Given the description of an element on the screen output the (x, y) to click on. 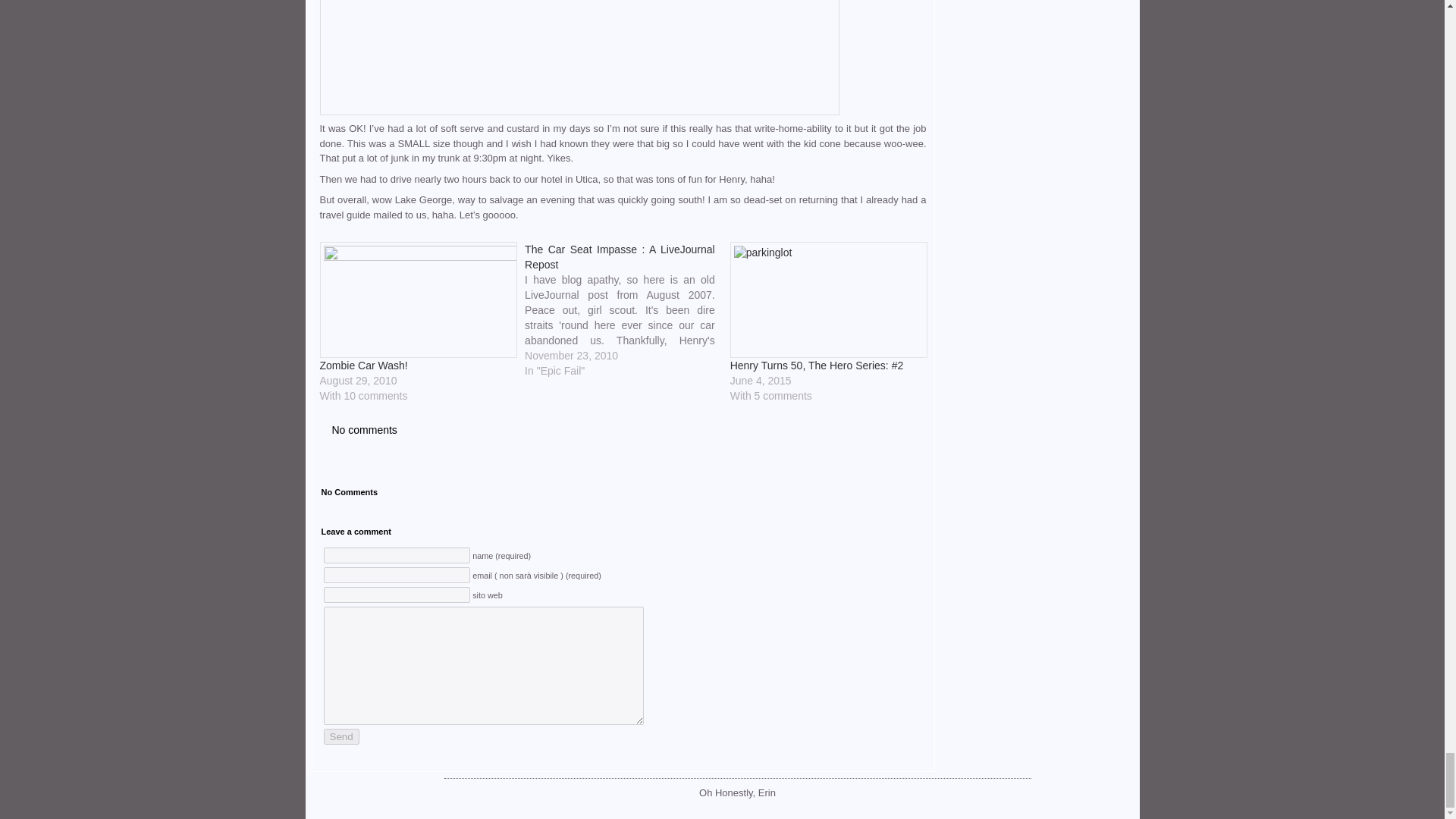
The Car Seat Impasse : A LiveJournal Repost (619, 257)
No comments (358, 429)
Send (340, 736)
Send (340, 736)
Zombie Car Wash! (363, 365)
